Given the description of an element on the screen output the (x, y) to click on. 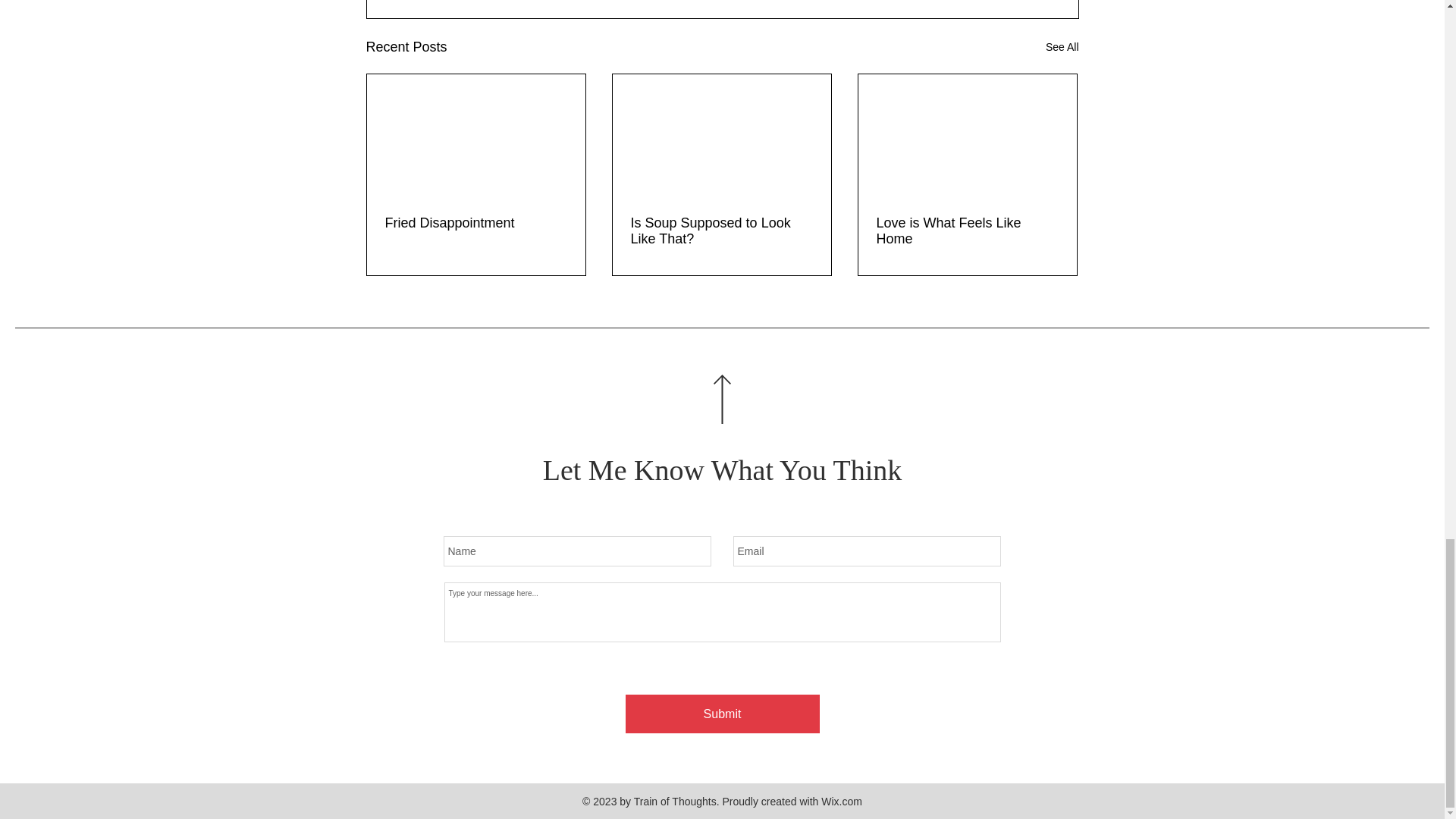
Fried Disappointment (476, 222)
Wix.com (841, 801)
Is Soup Supposed to Look Like That? (721, 231)
Submit (721, 713)
Love is What Feels Like Home (967, 231)
See All (1061, 47)
